Given the description of an element on the screen output the (x, y) to click on. 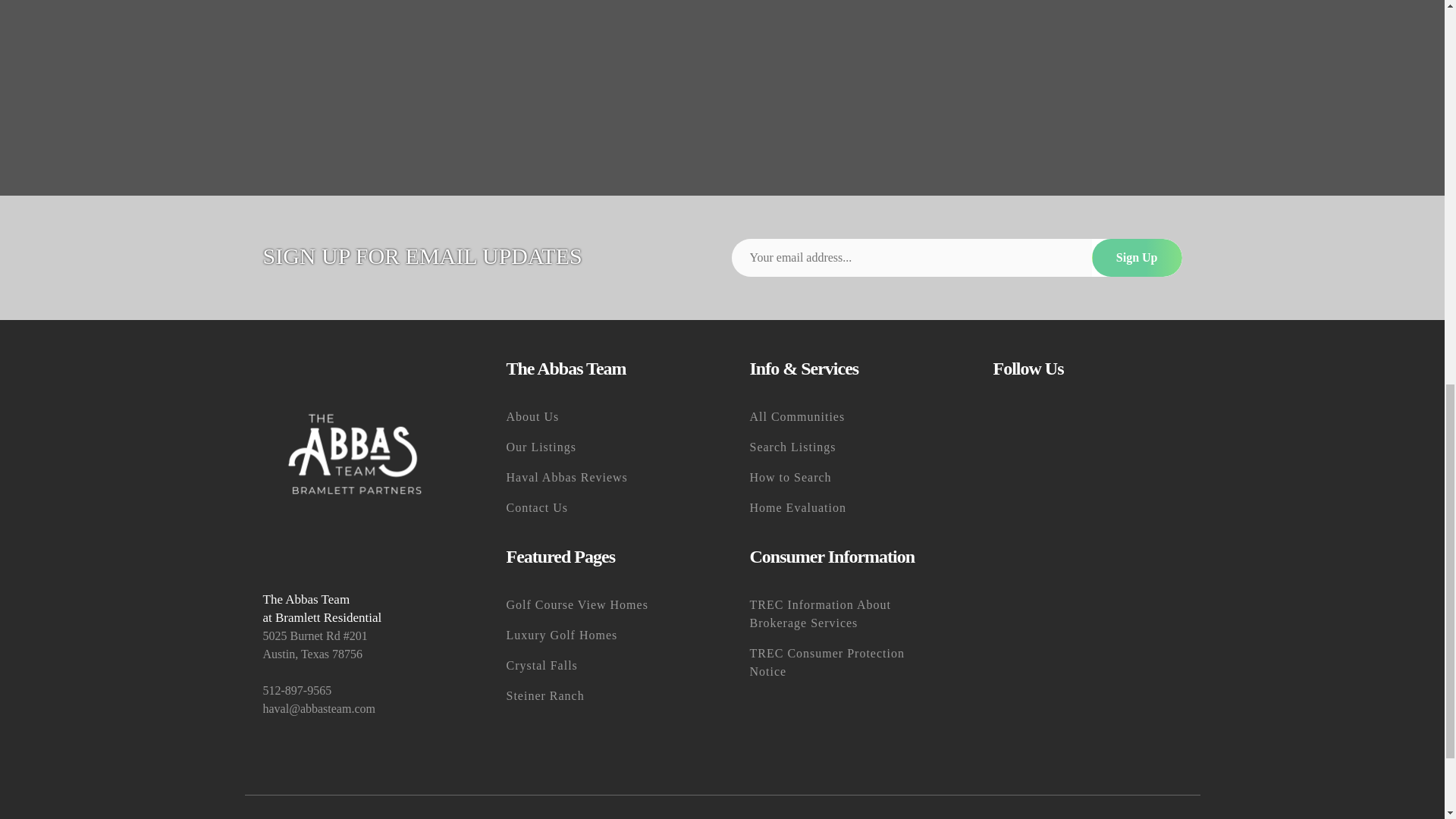
Haval Abbas Reviews (600, 477)
Site Logo (356, 453)
Crystal Falls (600, 665)
About Us (600, 417)
Contact Us (600, 508)
Golf Course View Homes (600, 604)
Our Listings (600, 447)
512-897-9565 (356, 690)
Sign Up (1137, 257)
Luxury Golf Homes (600, 634)
